Given the description of an element on the screen output the (x, y) to click on. 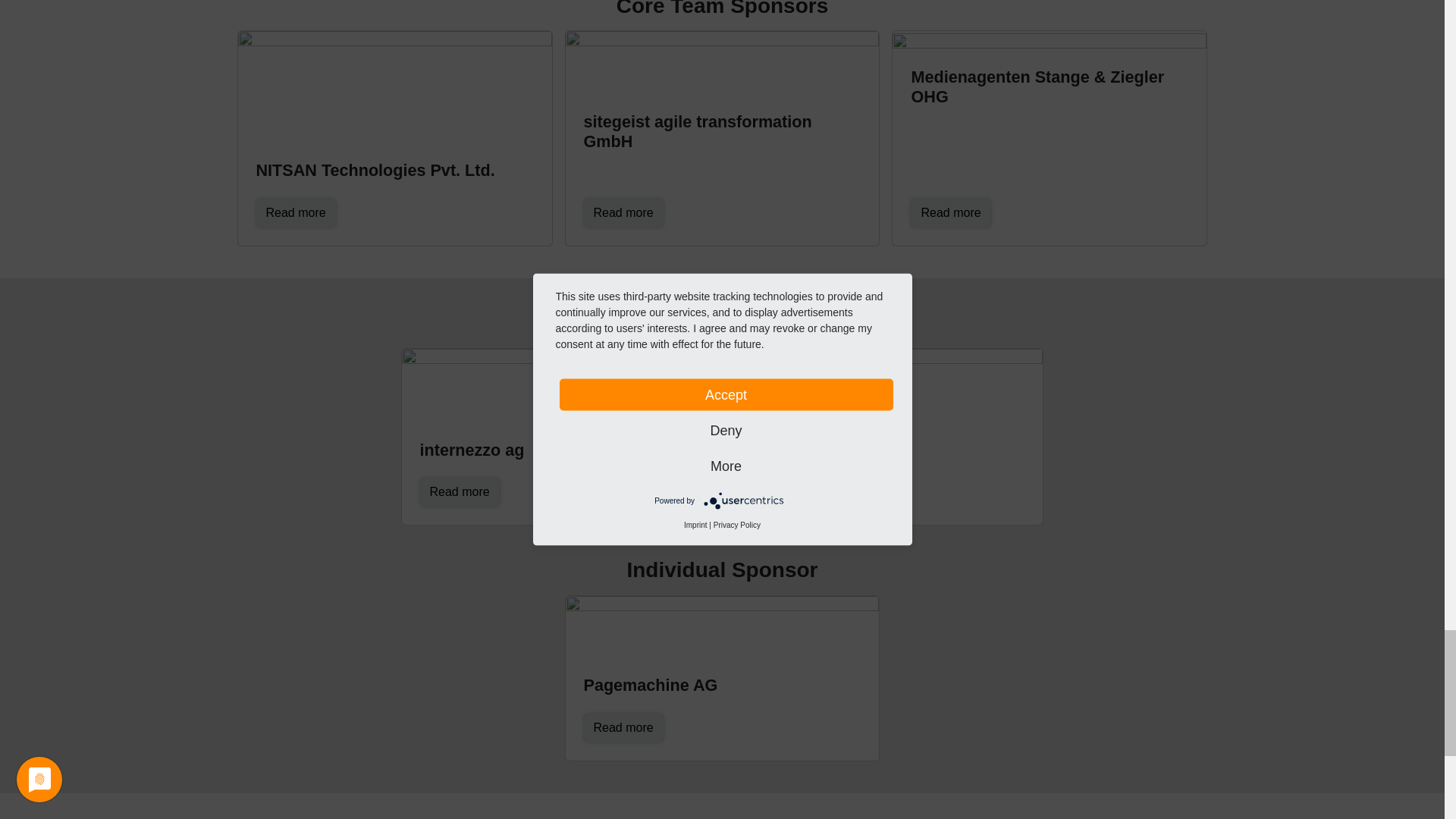
Read more (296, 213)
Read more (623, 727)
Read more (623, 213)
Read more (459, 491)
Read more (950, 213)
Read more (787, 491)
